Given the description of an element on the screen output the (x, y) to click on. 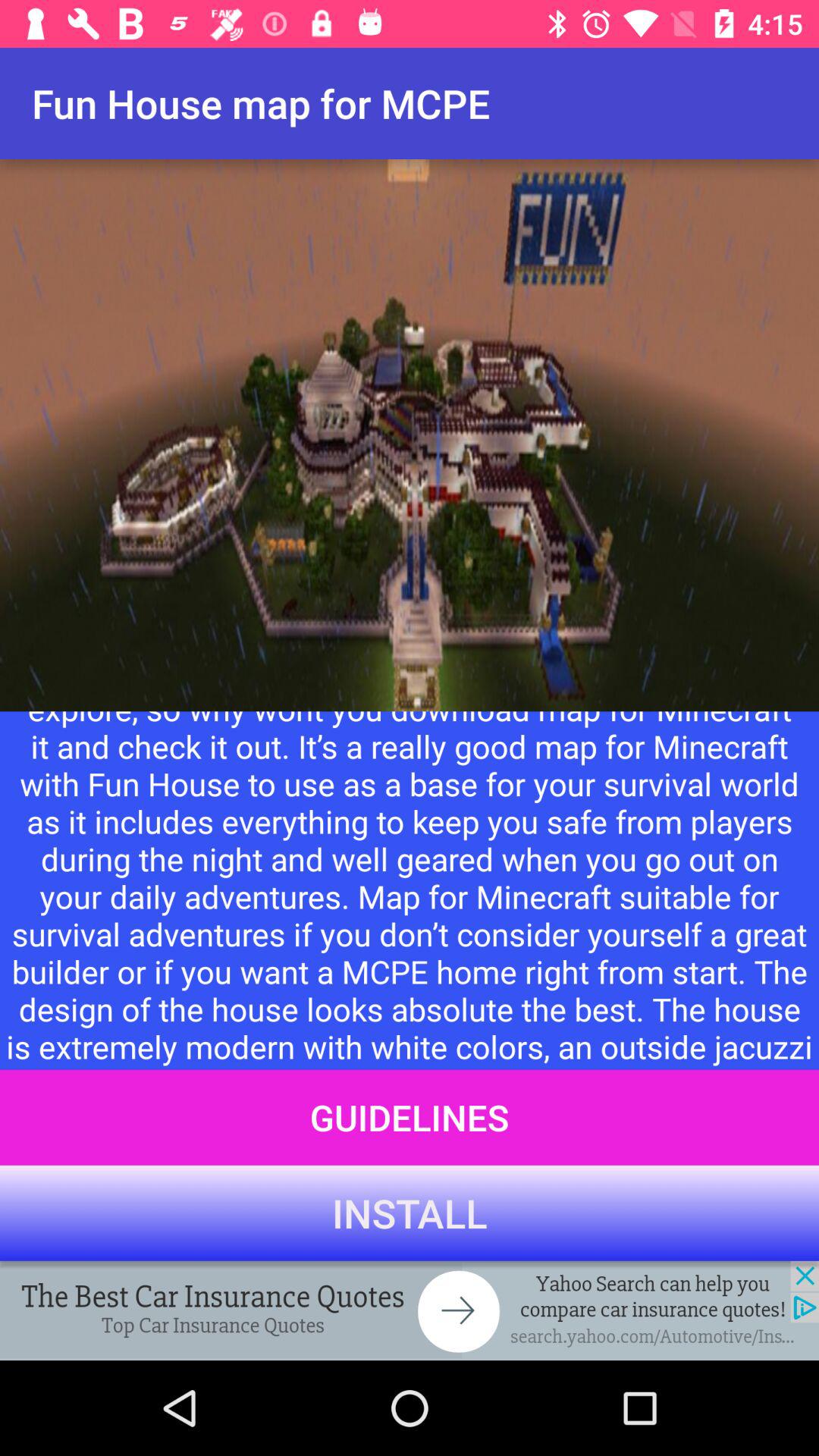
car insurance advertisement (409, 1310)
